Given the description of an element on the screen output the (x, y) to click on. 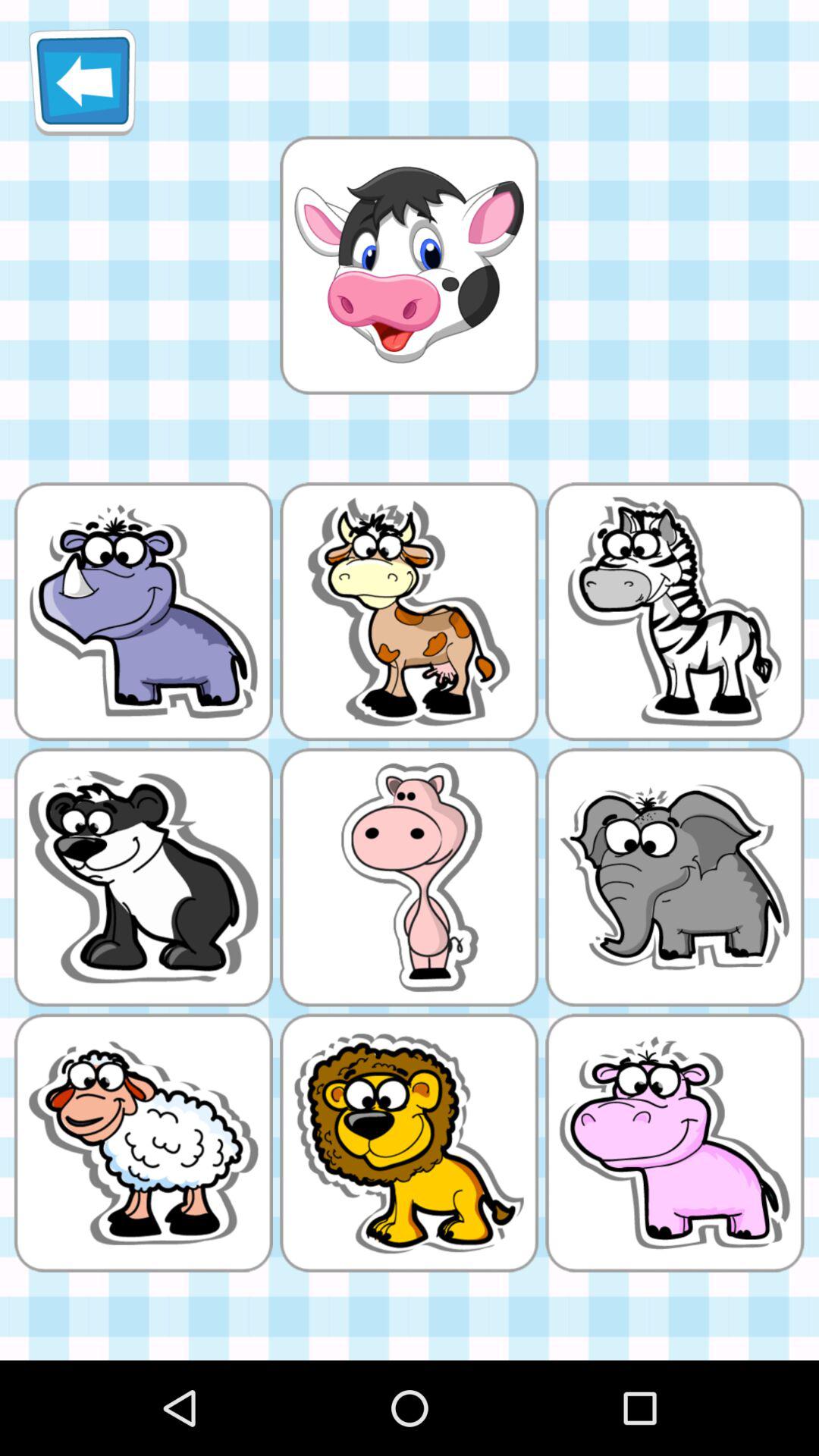
animal face (409, 264)
